Given the description of an element on the screen output the (x, y) to click on. 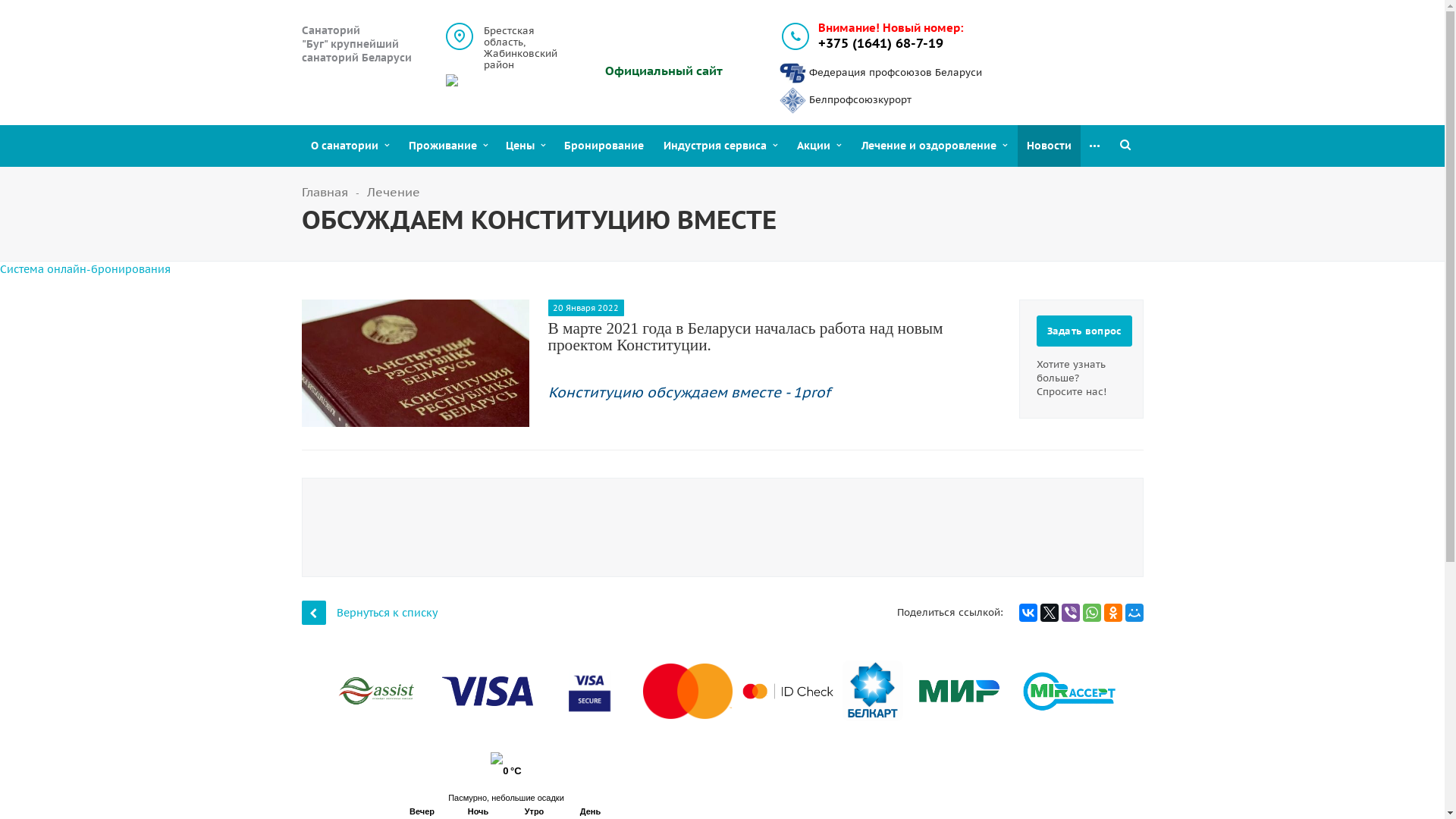
Visa-Secure Element type: hover (586, 690)
Twitter Element type: hover (1049, 612)
+375 (1641) 68-7-19 Element type: text (880, 43)
Assistg Element type: hover (375, 690)
MirAccept Element type: hover (1068, 690)
MIR Element type: hover (956, 690)
Belkart Element type: hover (871, 690)
Viber Element type: hover (1070, 612)
MasterCard Element type: hover (686, 690)
Visa Element type: hover (486, 691)
... Element type: text (1094, 145)
MasterCard_id_check Element type: hover (786, 691)
WhatsApp Element type: hover (1091, 612)
